Given the description of an element on the screen output the (x, y) to click on. 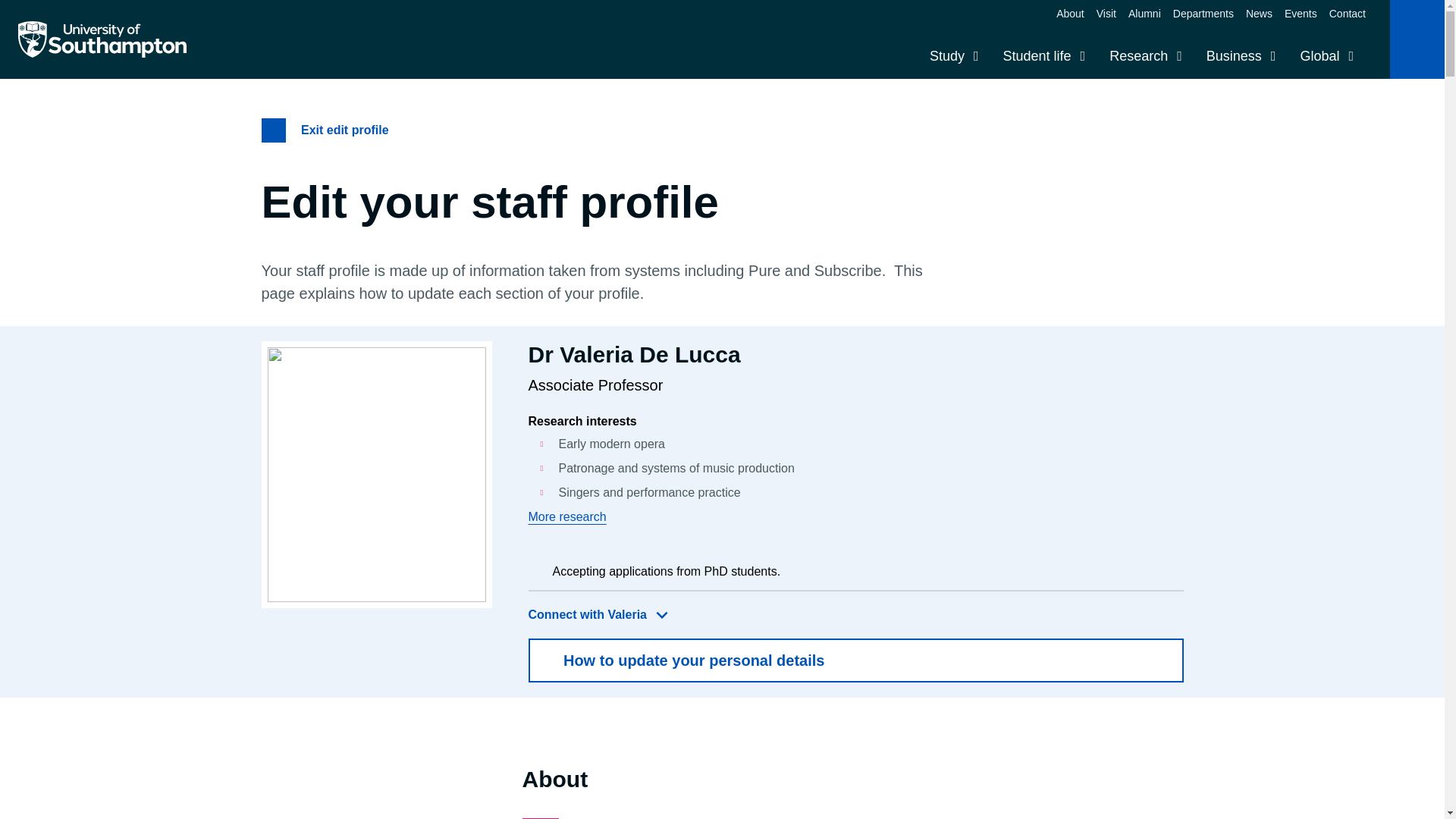
Research (1145, 56)
Contact (1347, 13)
About (1070, 13)
Study (954, 56)
News (1259, 13)
Global (1326, 56)
Alumni (1144, 13)
Student life (1043, 56)
Business (1240, 56)
